Given the description of an element on the screen output the (x, y) to click on. 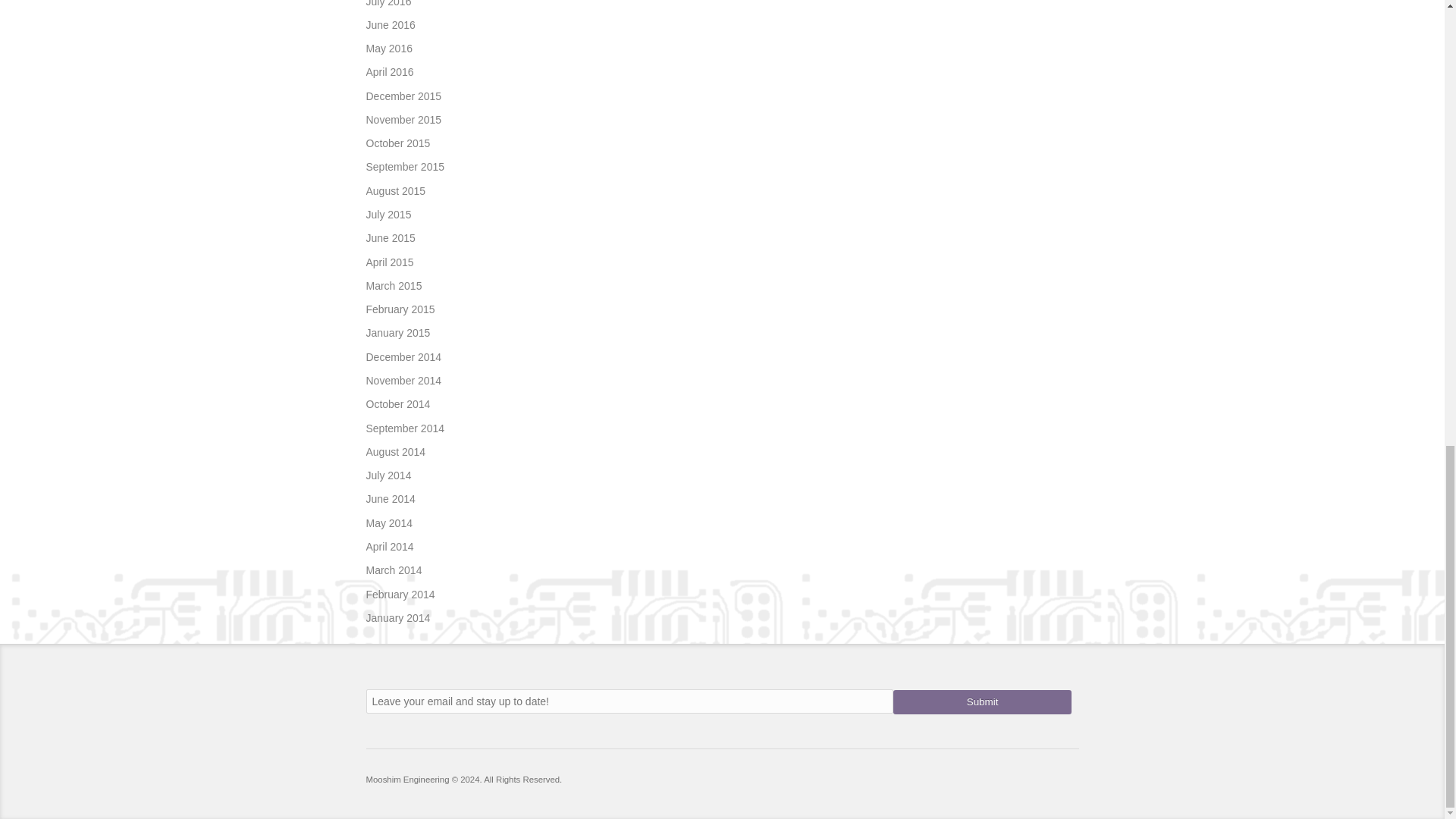
Submit (982, 702)
